Given the description of an element on the screen output the (x, y) to click on. 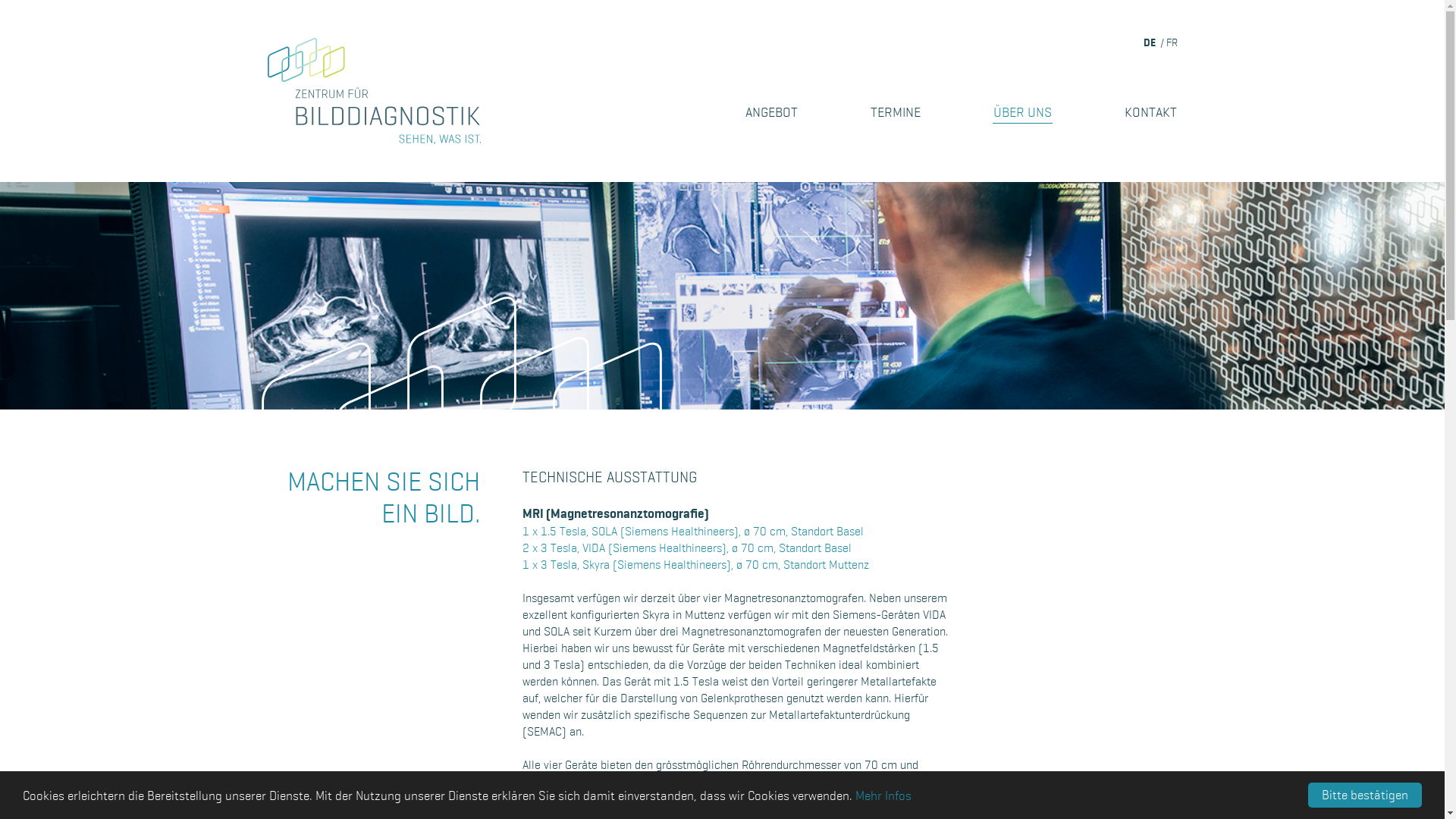
Mehr Infos Element type: text (883, 795)
TERMINE Element type: text (895, 111)
ANGEBOT Element type: text (770, 111)
KONTAKT Element type: text (1149, 111)
FR Element type: text (1171, 42)
